Given the description of an element on the screen output the (x, y) to click on. 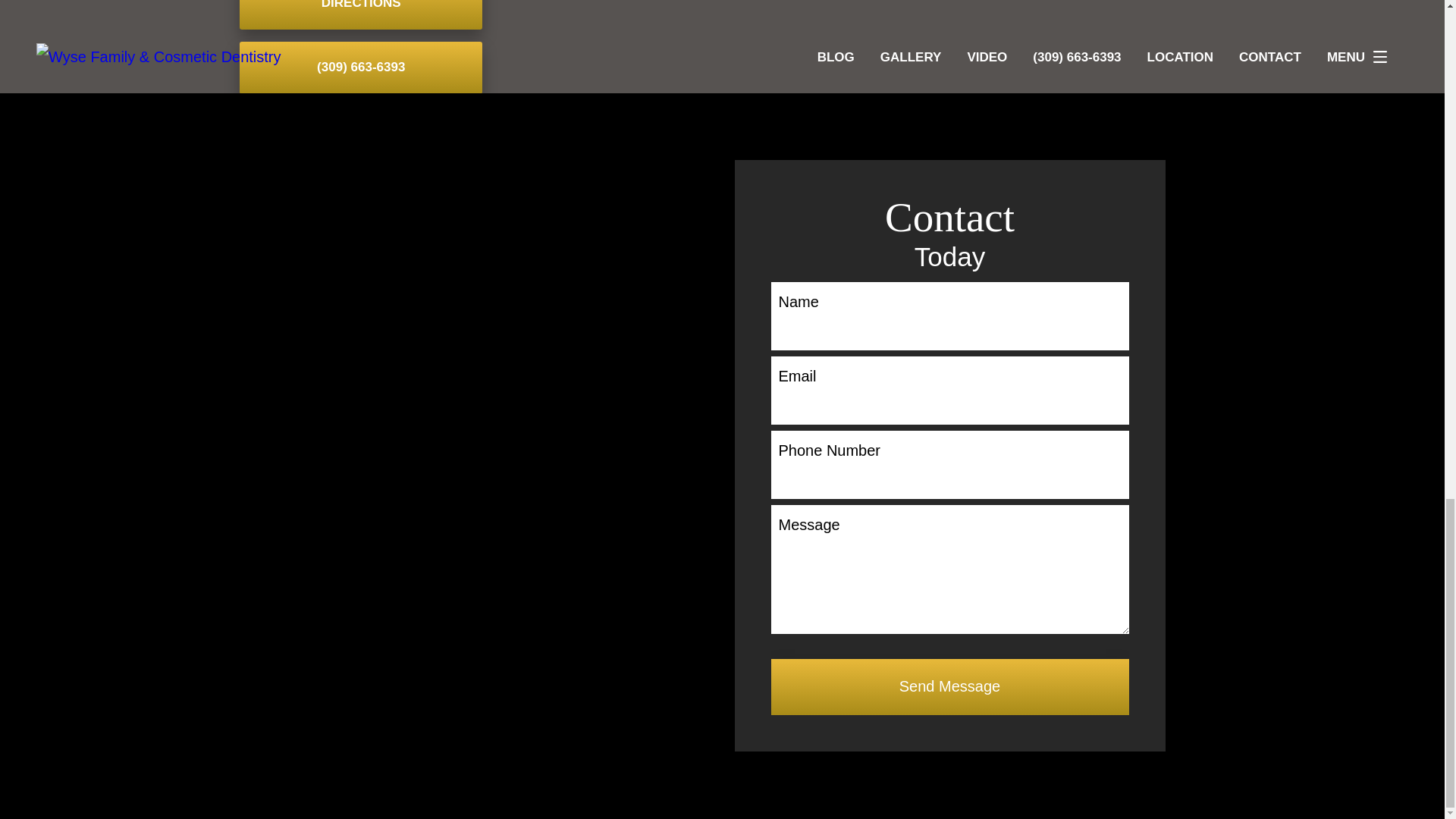
Send Message (949, 686)
DIRECTIONS (360, 14)
